Given the description of an element on the screen output the (x, y) to click on. 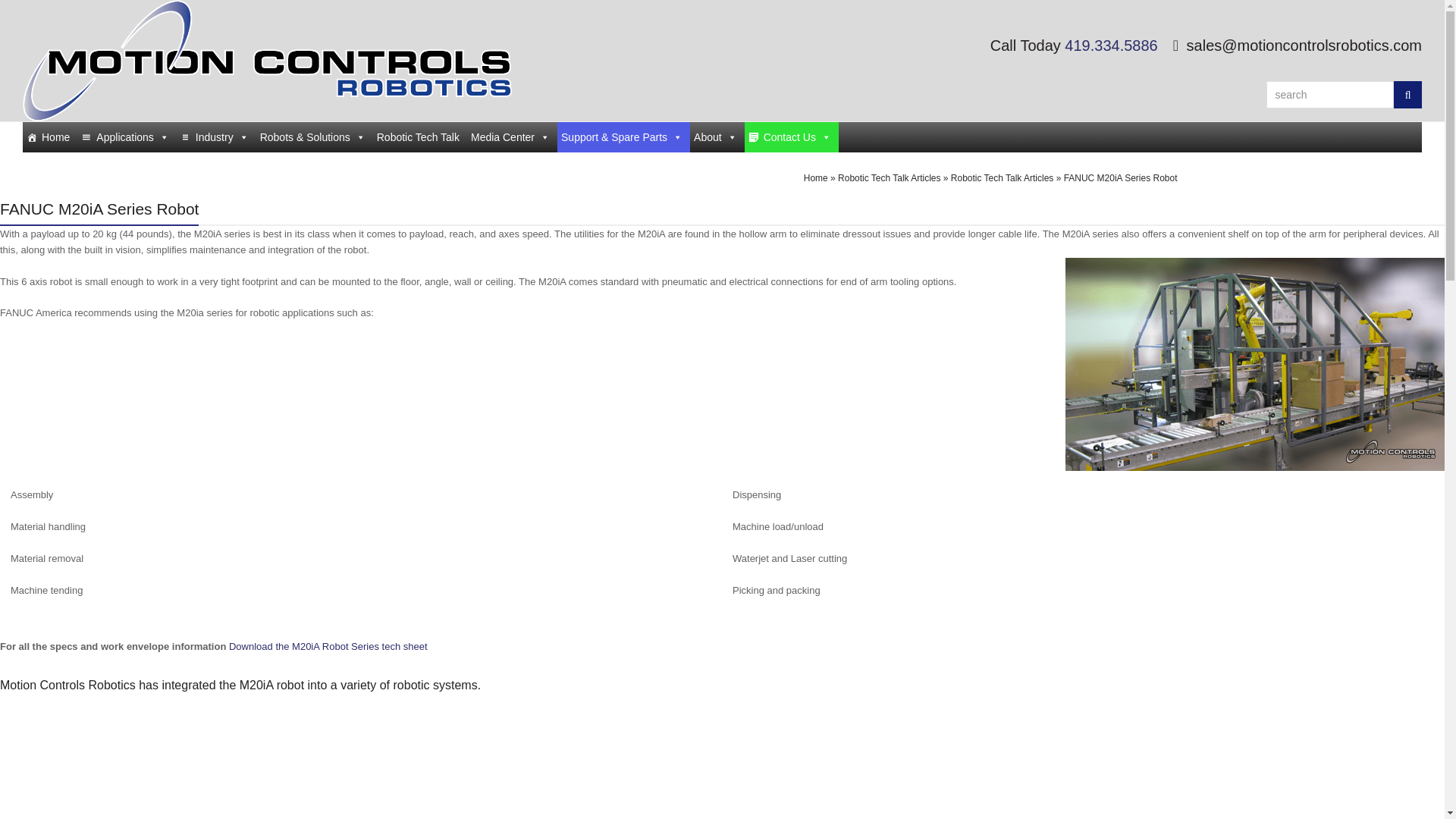
Search (1407, 94)
Home (50, 137)
Applications (126, 137)
419.334.5886 (1110, 45)
Industry (216, 137)
